Given the description of an element on the screen output the (x, y) to click on. 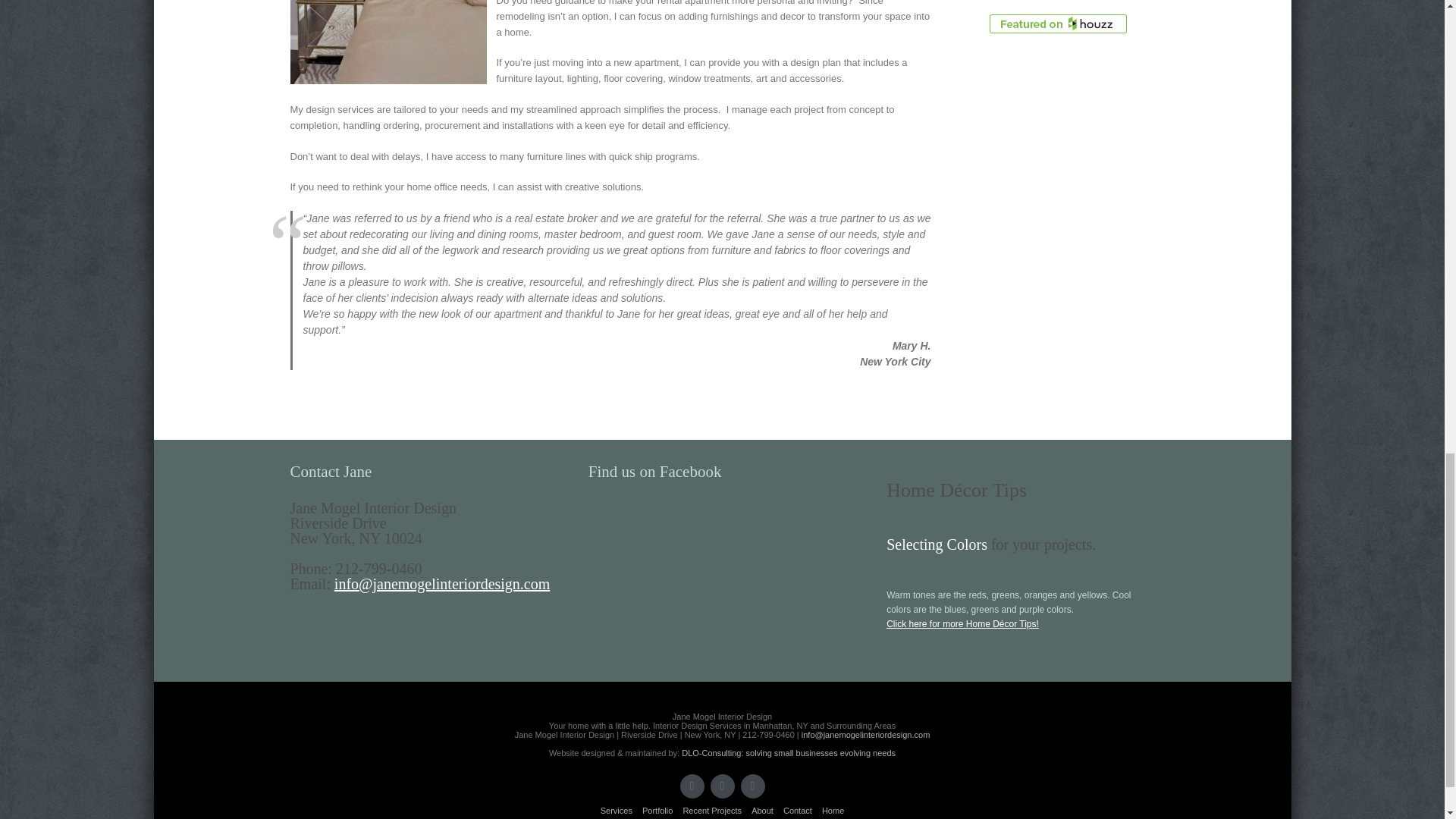
About (762, 809)
Portfolio (657, 809)
DLO-Consulting: solving small businesses evolving needs (788, 752)
Selecting Colors (936, 544)
Services (615, 809)
Recent Projects (711, 809)
Facebook (691, 785)
Home (833, 809)
Instagram (751, 785)
Contact (797, 809)
